Given the description of an element on the screen output the (x, y) to click on. 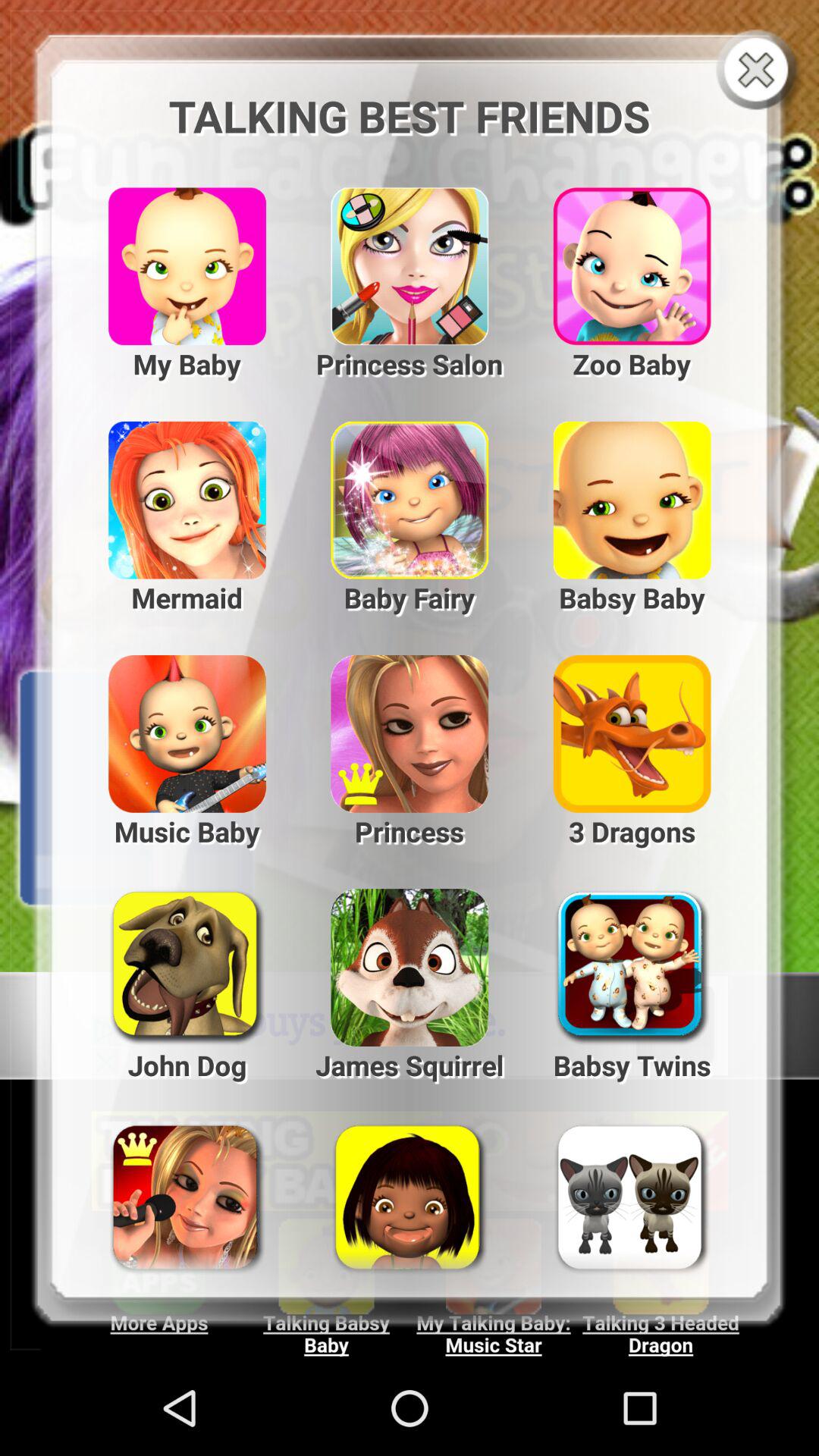
go close (759, 71)
